Given the description of an element on the screen output the (x, y) to click on. 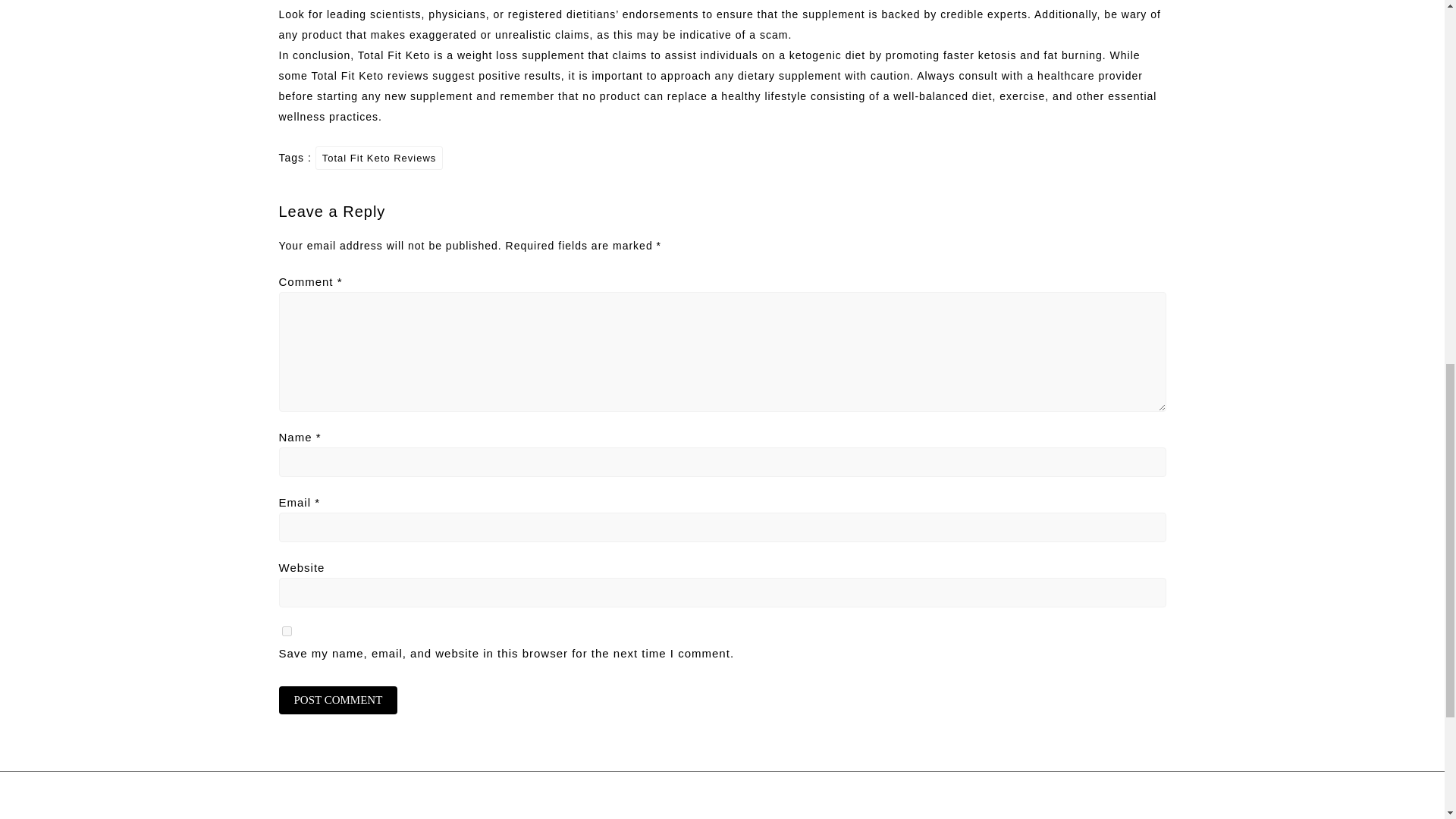
yes (287, 631)
Post Comment (338, 700)
